Given the description of an element on the screen output the (x, y) to click on. 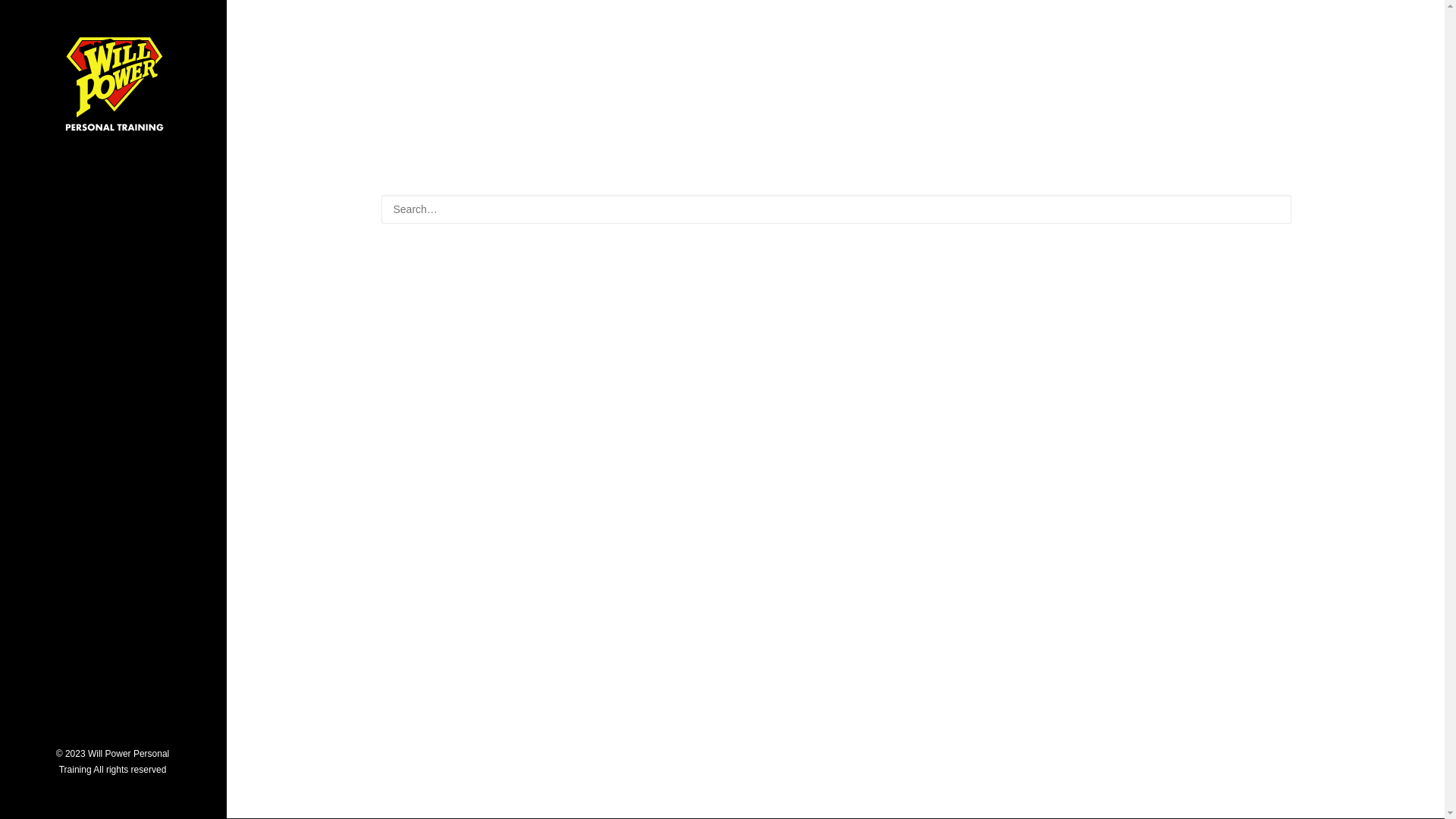
Search for: Element type: hover (835, 208)
